Given the description of an element on the screen output the (x, y) to click on. 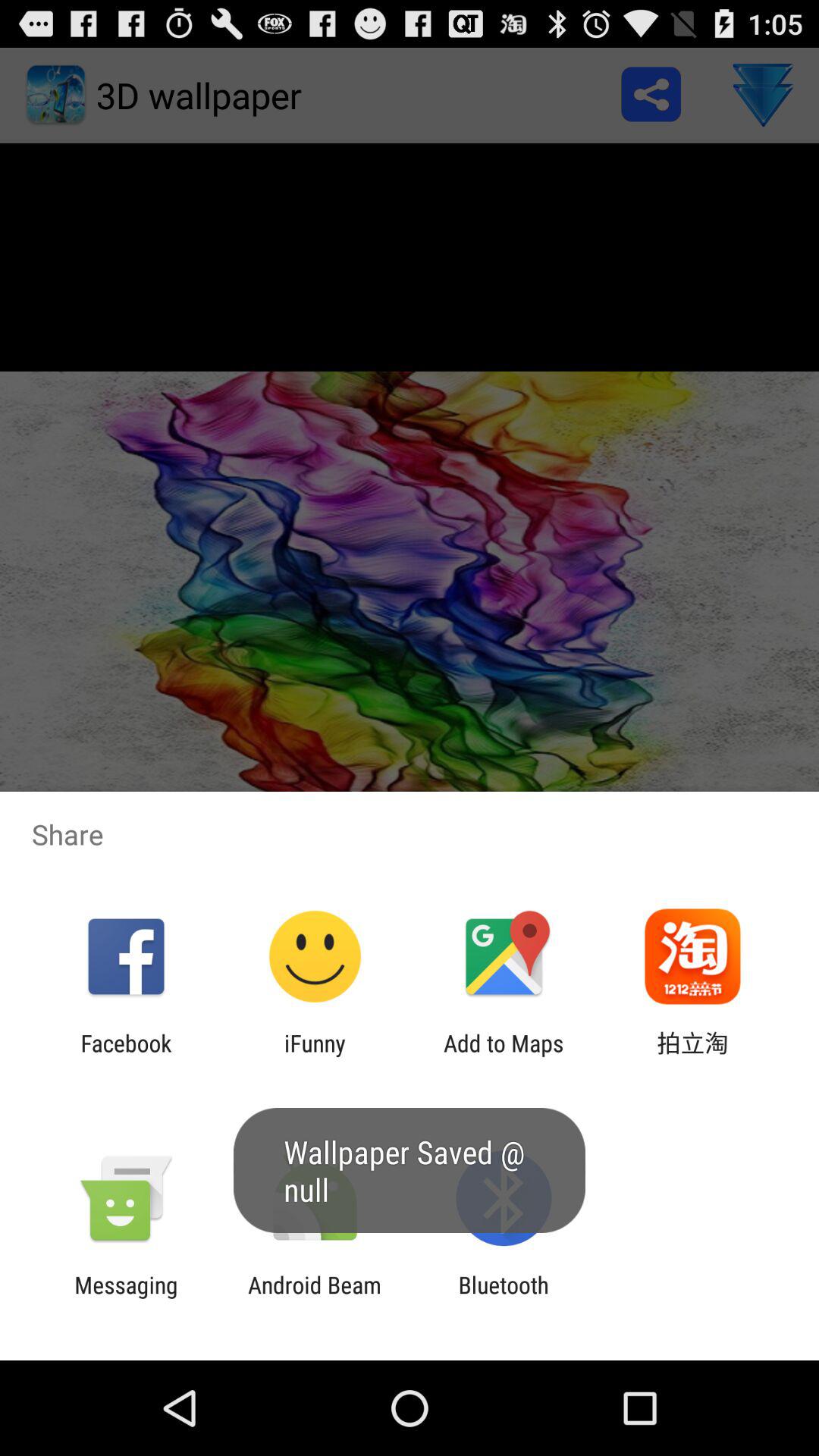
swipe to messaging icon (126, 1298)
